Given the description of an element on the screen output the (x, y) to click on. 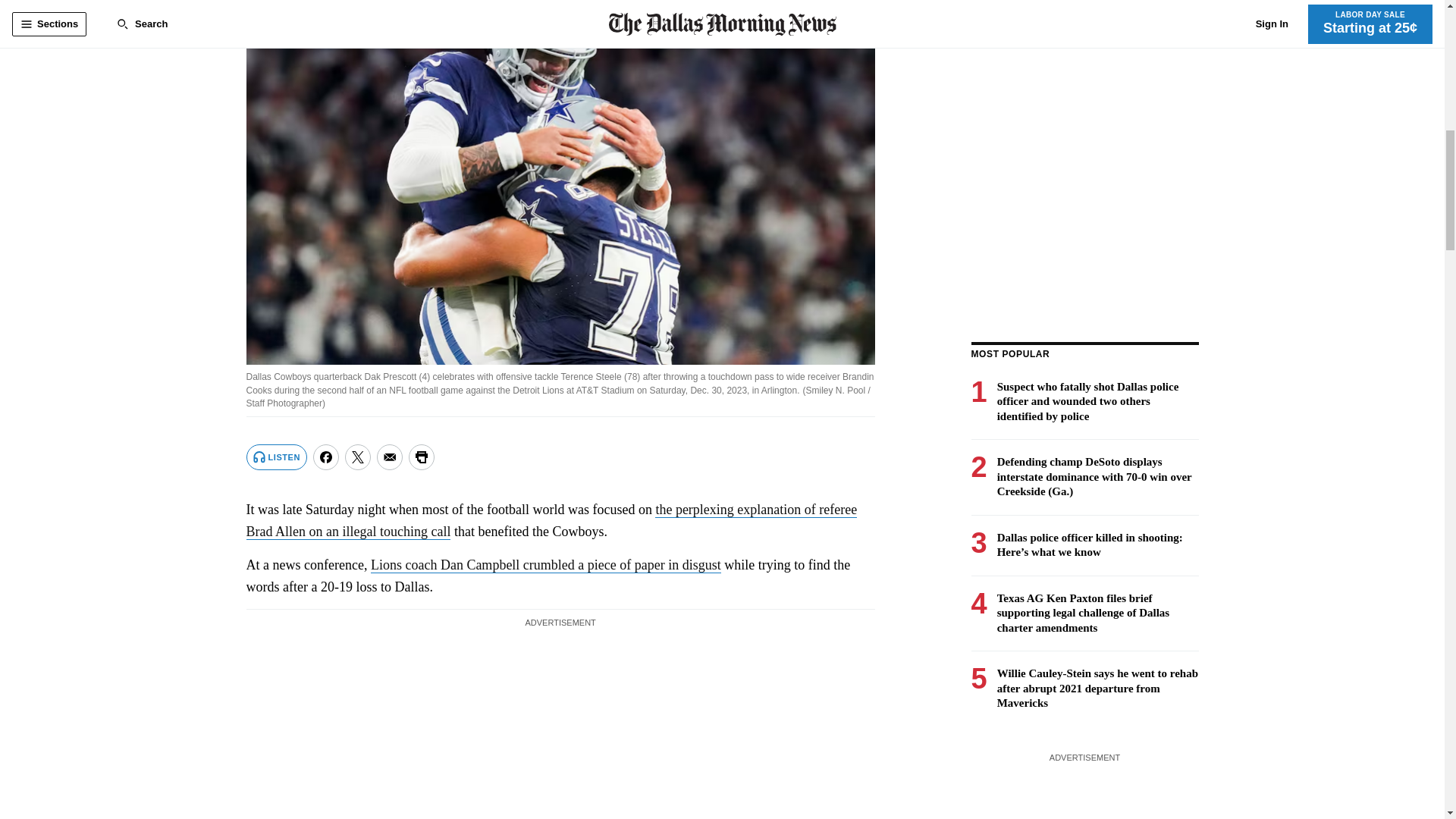
Share on Facebook (326, 457)
Share on Twitter (358, 457)
Print (421, 457)
Share via Email (390, 457)
